Given the description of an element on the screen output the (x, y) to click on. 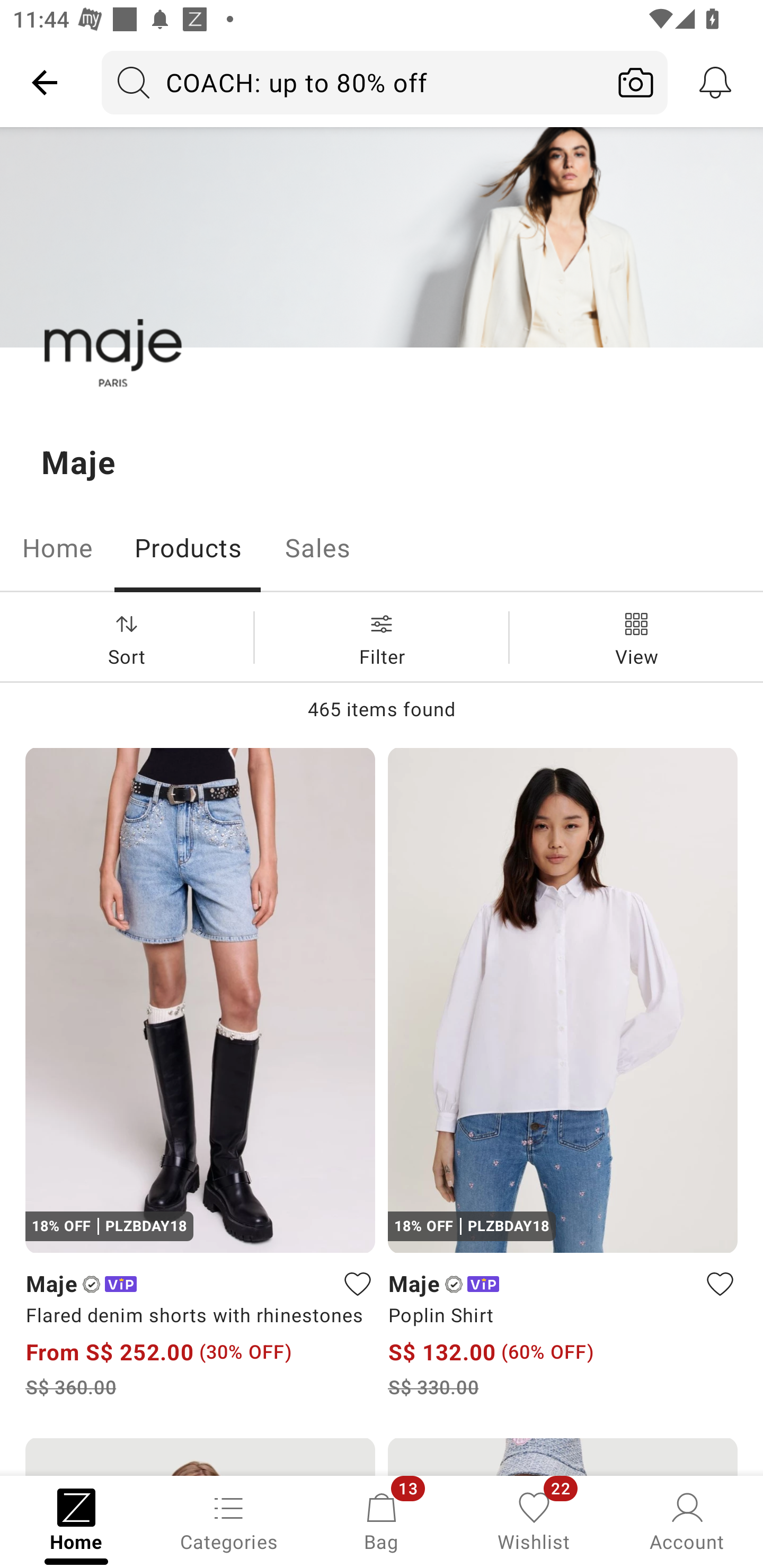
Navigate up (44, 82)
COACH: up to 80% off (352, 82)
Home (57, 547)
Sales (317, 547)
Categories (228, 1519)
Bag, 13 new notifications Bag (381, 1519)
Wishlist, 22 new notifications Wishlist (533, 1519)
Account (686, 1519)
